Given the description of an element on the screen output the (x, y) to click on. 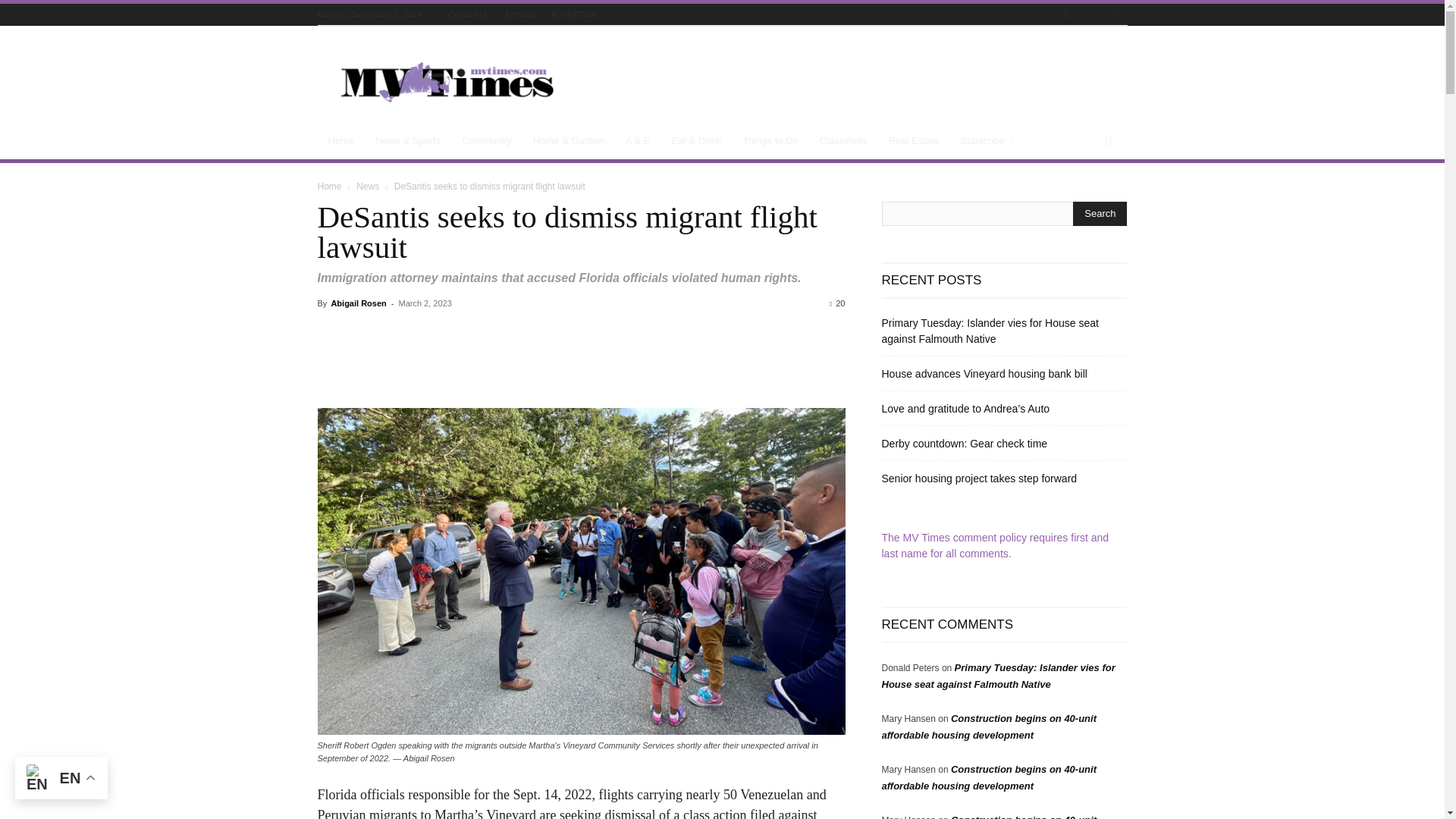
Subscribe (988, 140)
ADVERTISE (573, 13)
Twitter (1090, 14)
Search (1099, 213)
Youtube (1114, 14)
View all posts in News (367, 185)
Archives (519, 13)
Facebook (1040, 14)
Things to Do (770, 140)
Home (341, 140)
